Given the description of an element on the screen output the (x, y) to click on. 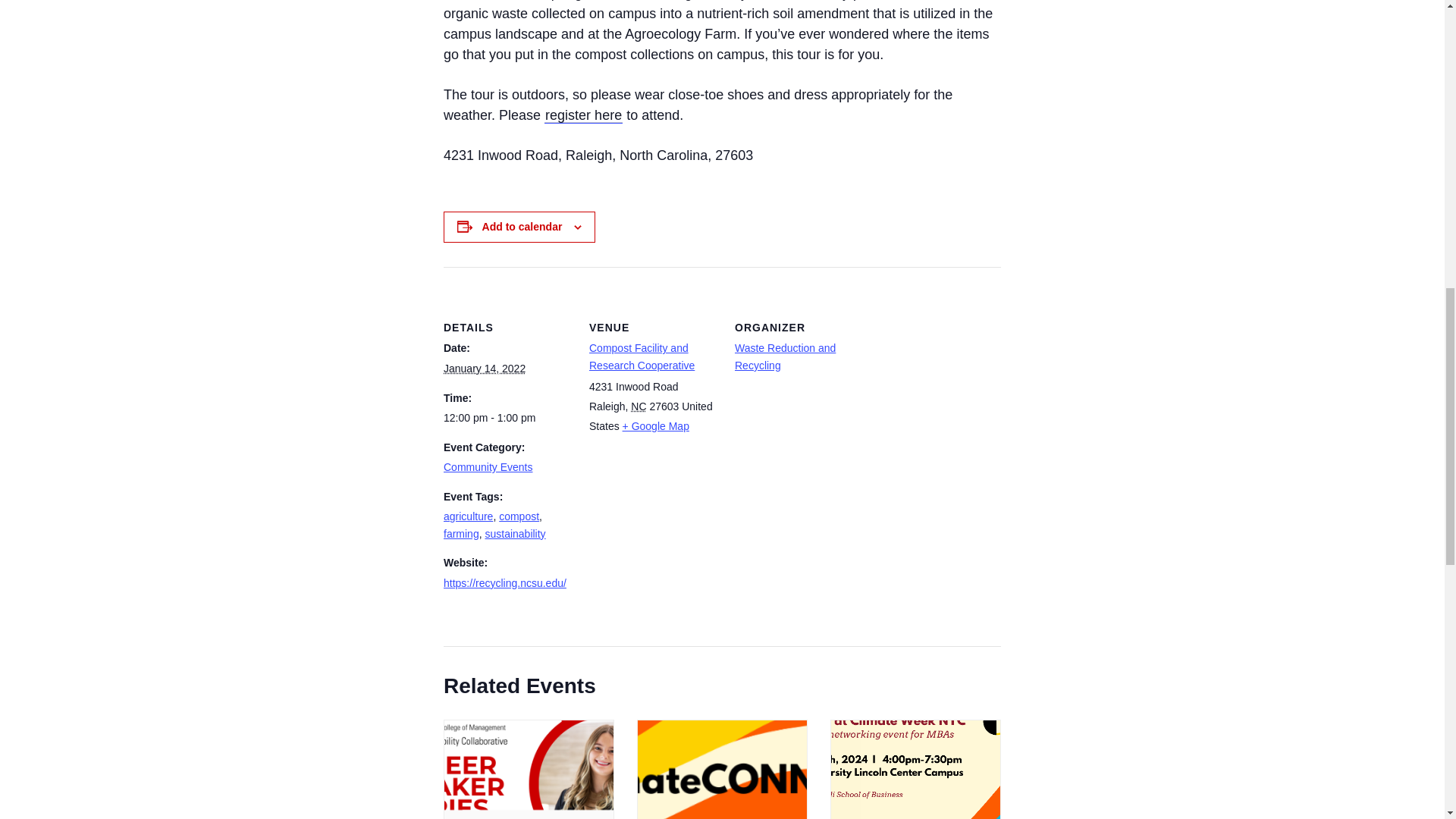
2022-01-14 (507, 417)
2022-01-14 (484, 368)
Waste Reduction and Recycling (785, 356)
Click to view a Google Map (655, 426)
North Carolina (638, 406)
